Given the description of an element on the screen output the (x, y) to click on. 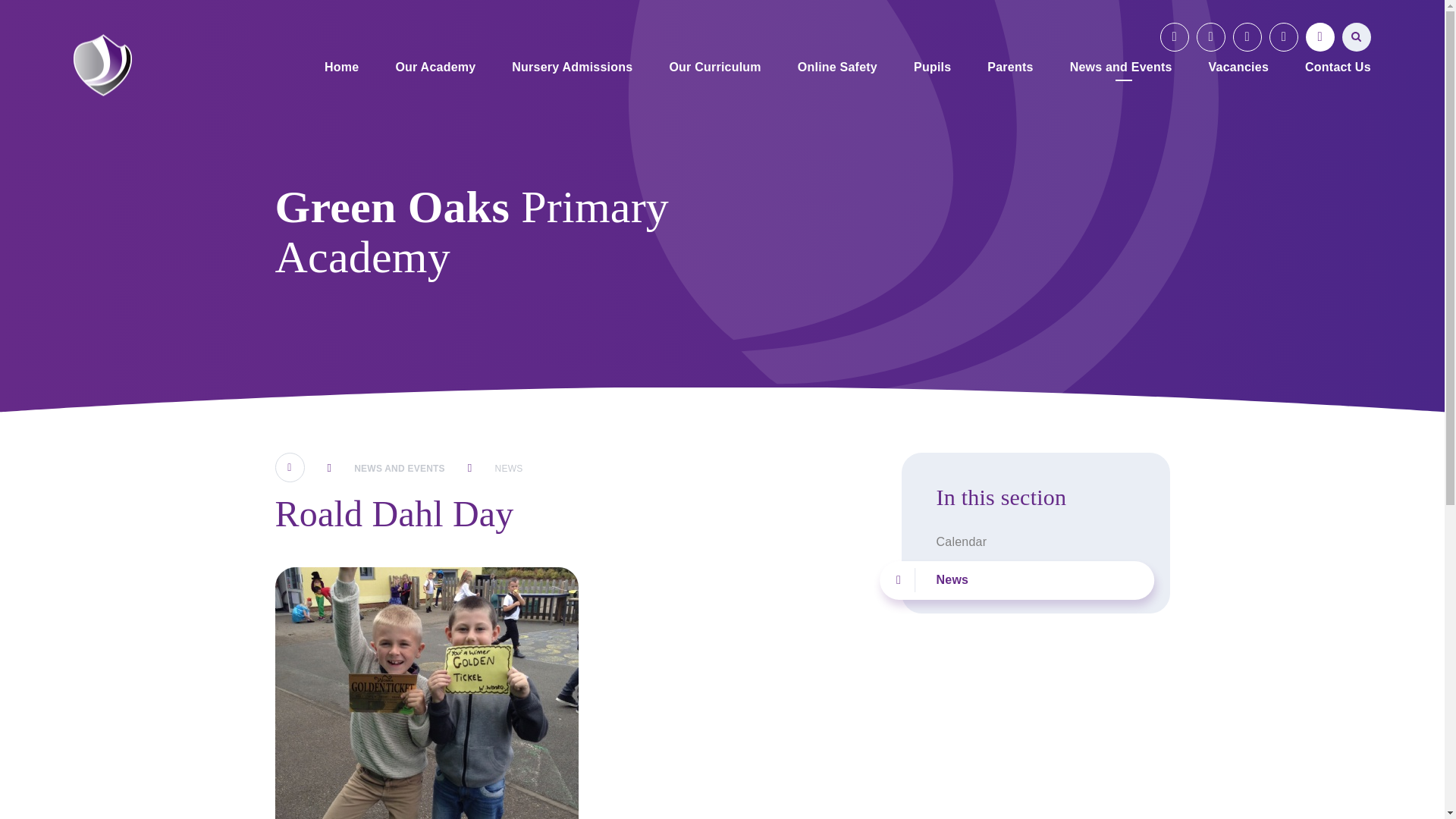
Green Oaks Primary Academy (103, 64)
Search... (1356, 36)
Our Academy (434, 67)
Home (341, 67)
Search... (1356, 36)
YouTube (1174, 36)
Twitter (1247, 36)
search... (1356, 36)
Facebook (1210, 36)
